Given the description of an element on the screen output the (x, y) to click on. 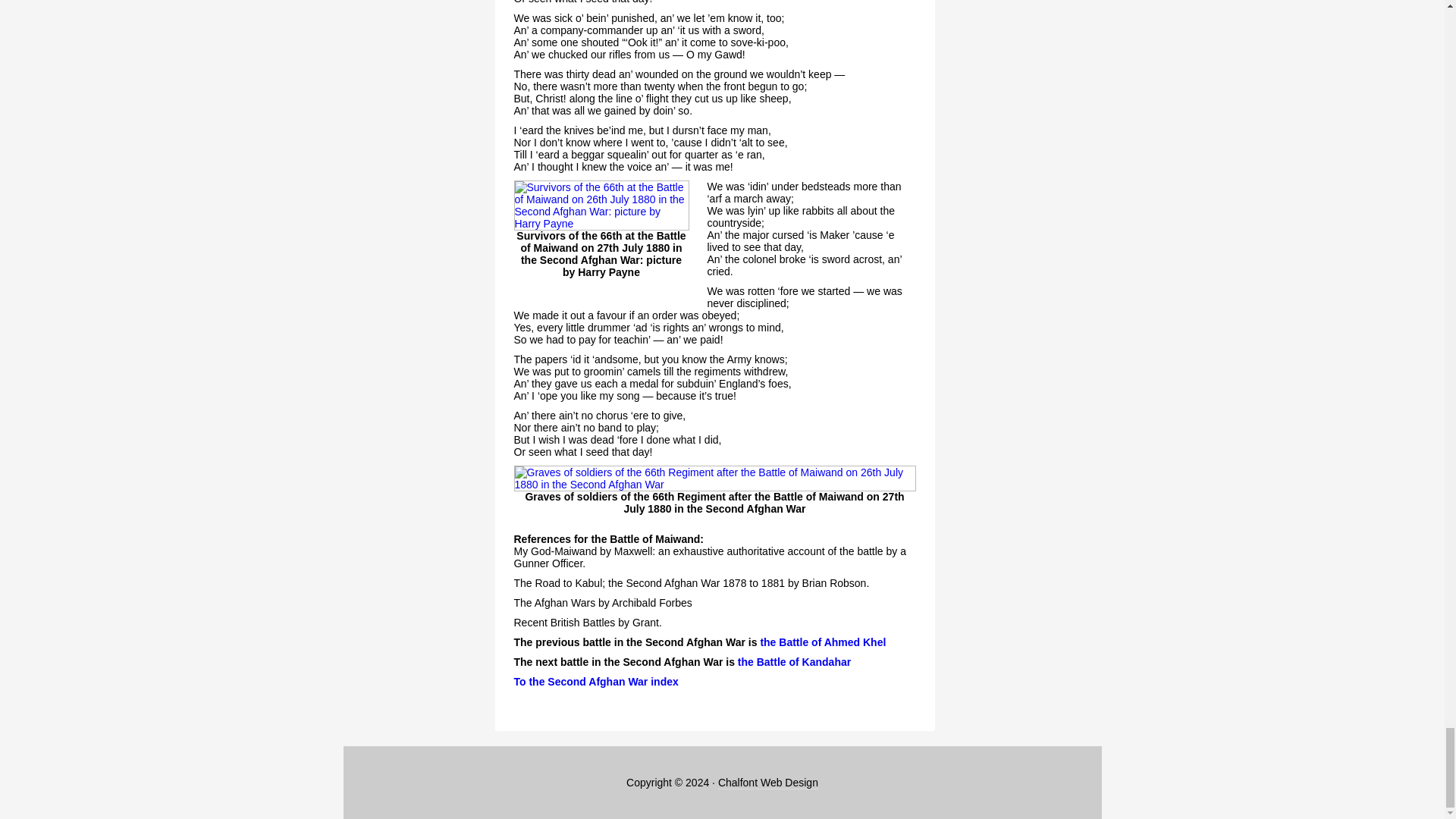
the Battle of Kandahar (794, 662)
the Battle of Ahmed Khel (822, 642)
